Given the description of an element on the screen output the (x, y) to click on. 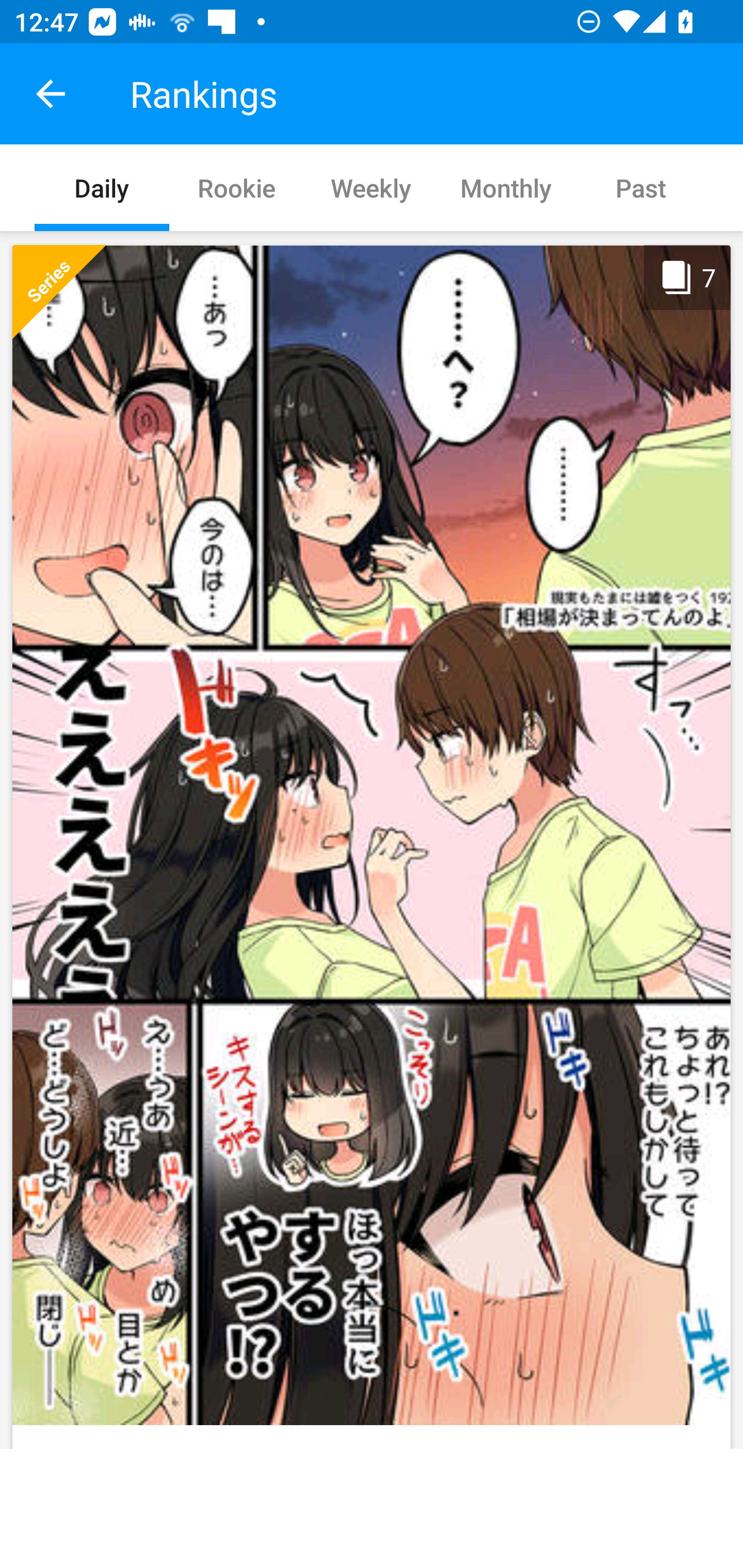
Navigate up (50, 93)
Rookie (236, 187)
Weekly (370, 187)
Monthly (505, 187)
Past (640, 187)
Series (59, 291)
